Given the description of an element on the screen output the (x, y) to click on. 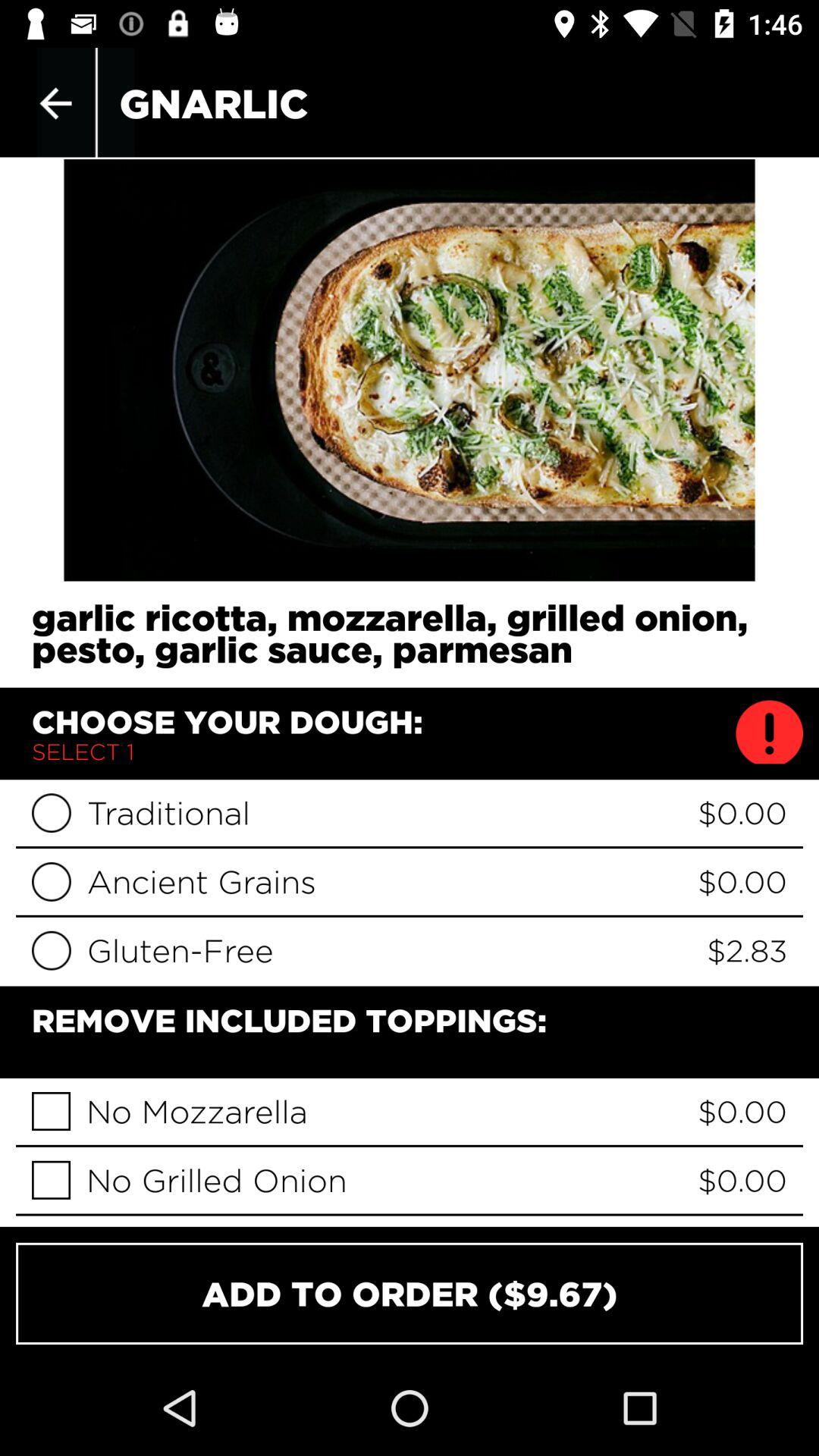
select no mozzarella (50, 1111)
